Given the description of an element on the screen output the (x, y) to click on. 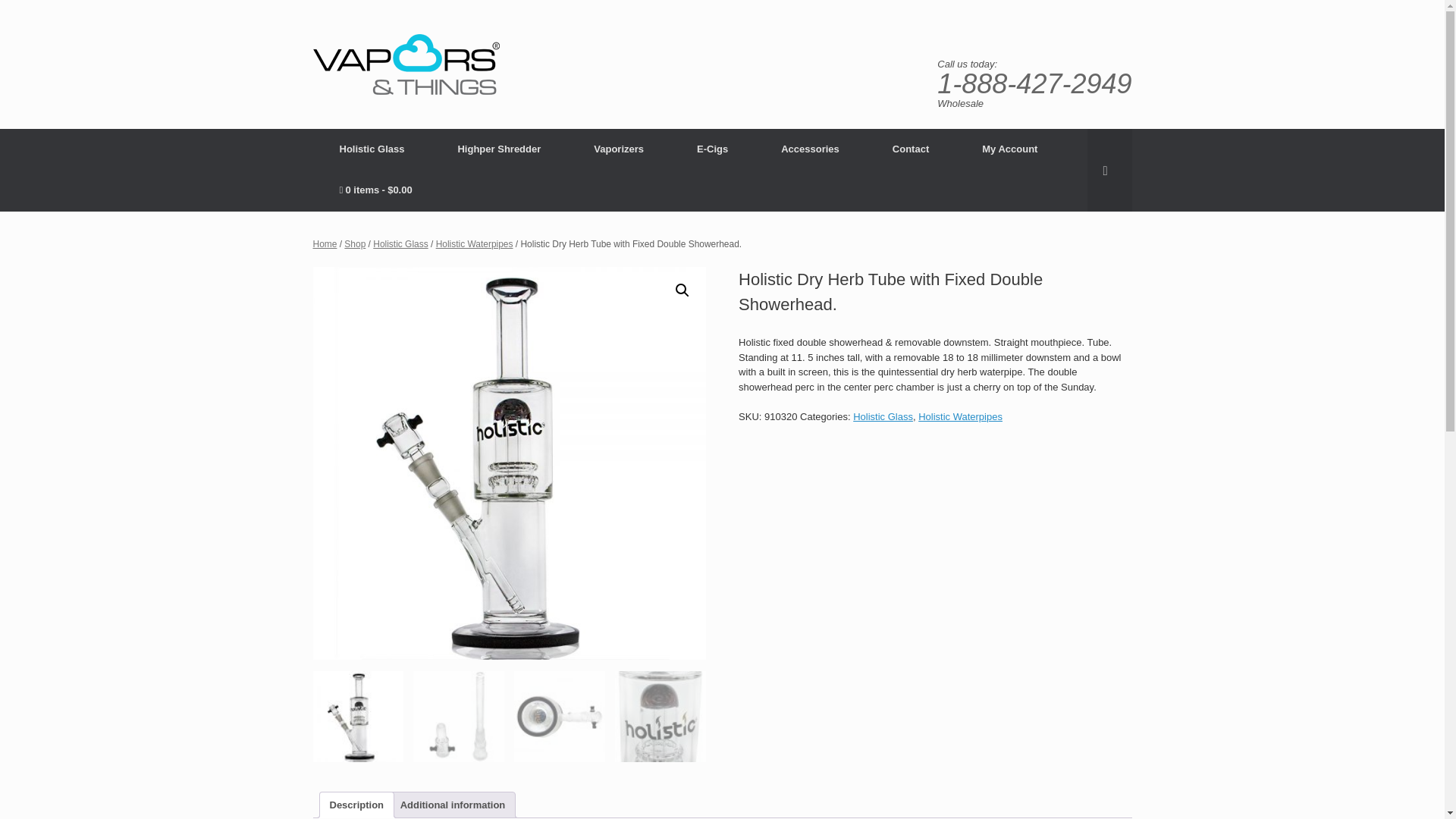
Vaporizers (618, 148)
E-Cigs (711, 148)
Highper Shredder (498, 148)
Accessories (810, 148)
Shop (354, 244)
Holistic Glass (371, 148)
Contact (910, 148)
Start shopping (375, 189)
Vapors and Things (406, 64)
Home (324, 244)
